Given the description of an element on the screen output the (x, y) to click on. 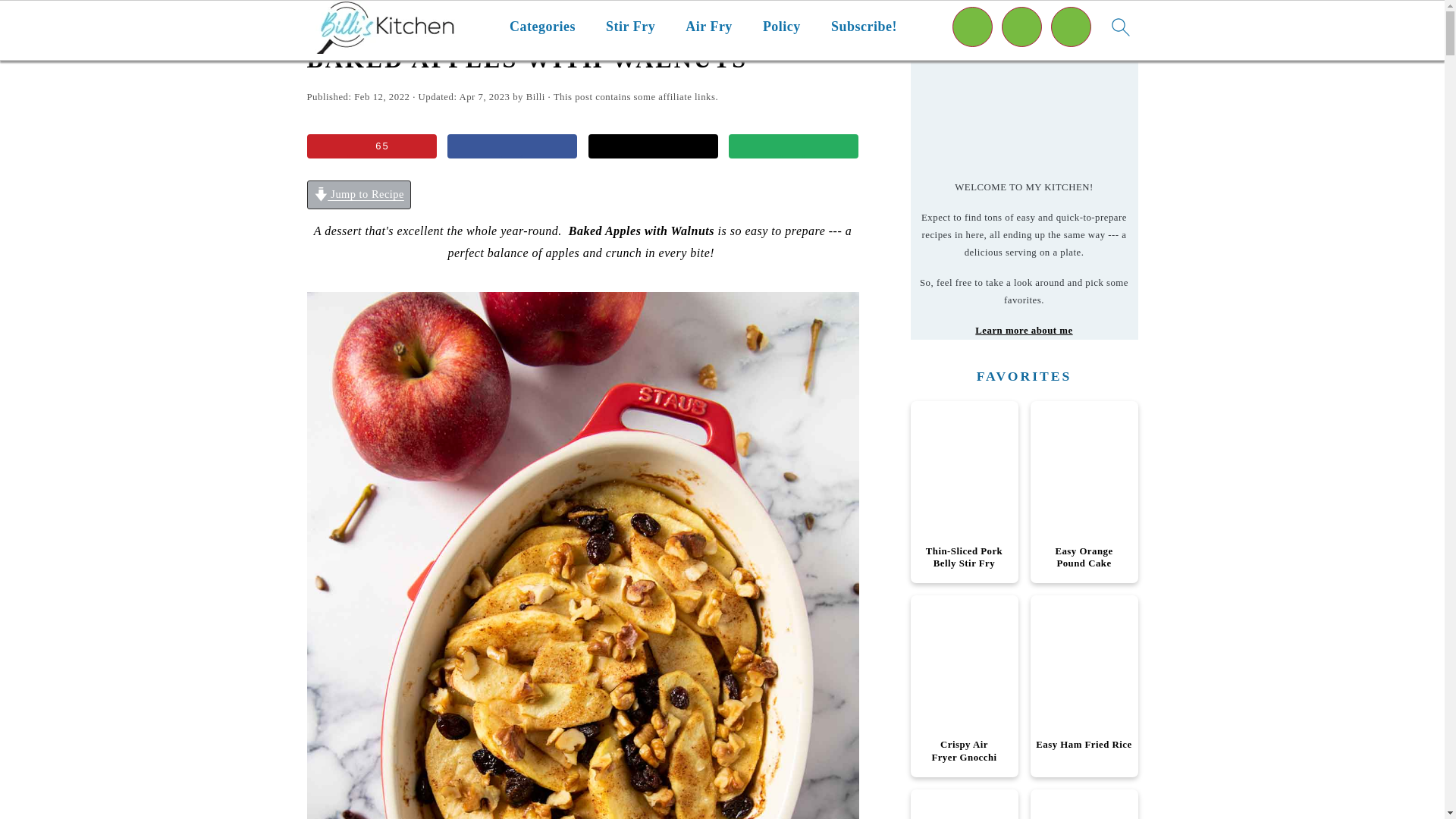
Policy (781, 26)
65 (370, 146)
Share on X (652, 146)
Save to Pinterest (370, 146)
Stir Fry (630, 26)
Subscribe! (863, 26)
search icon (1119, 26)
Desserts (360, 23)
Air Fry (708, 26)
